Given the description of an element on the screen output the (x, y) to click on. 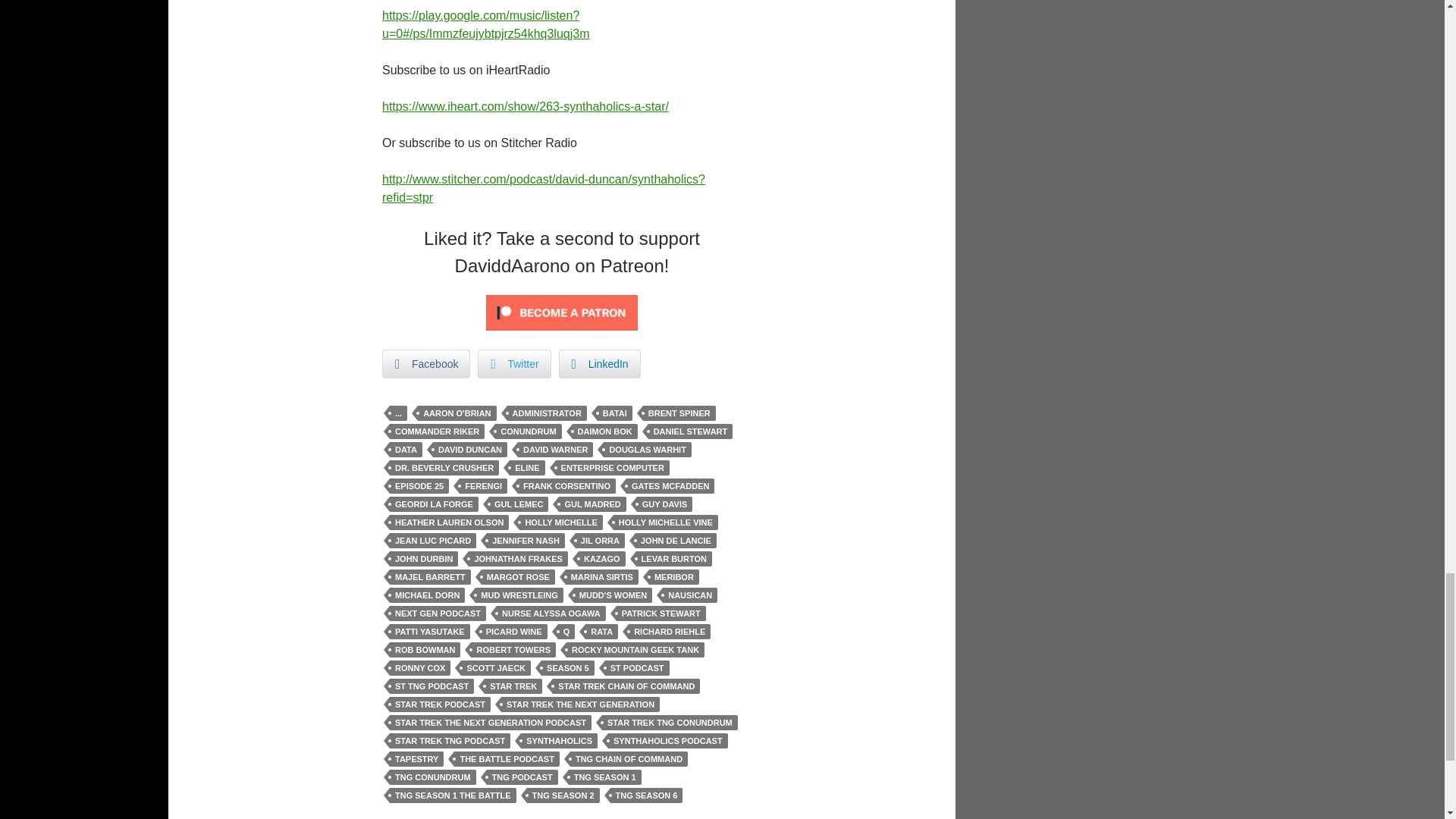
BATAI (613, 412)
Twitter (513, 363)
LinkedIn (599, 363)
Facebook (425, 363)
AARON O'BRIAN (456, 412)
BRENT SPINER (679, 412)
... (398, 412)
ADMINISTRATOR (546, 412)
